Given the description of an element on the screen output the (x, y) to click on. 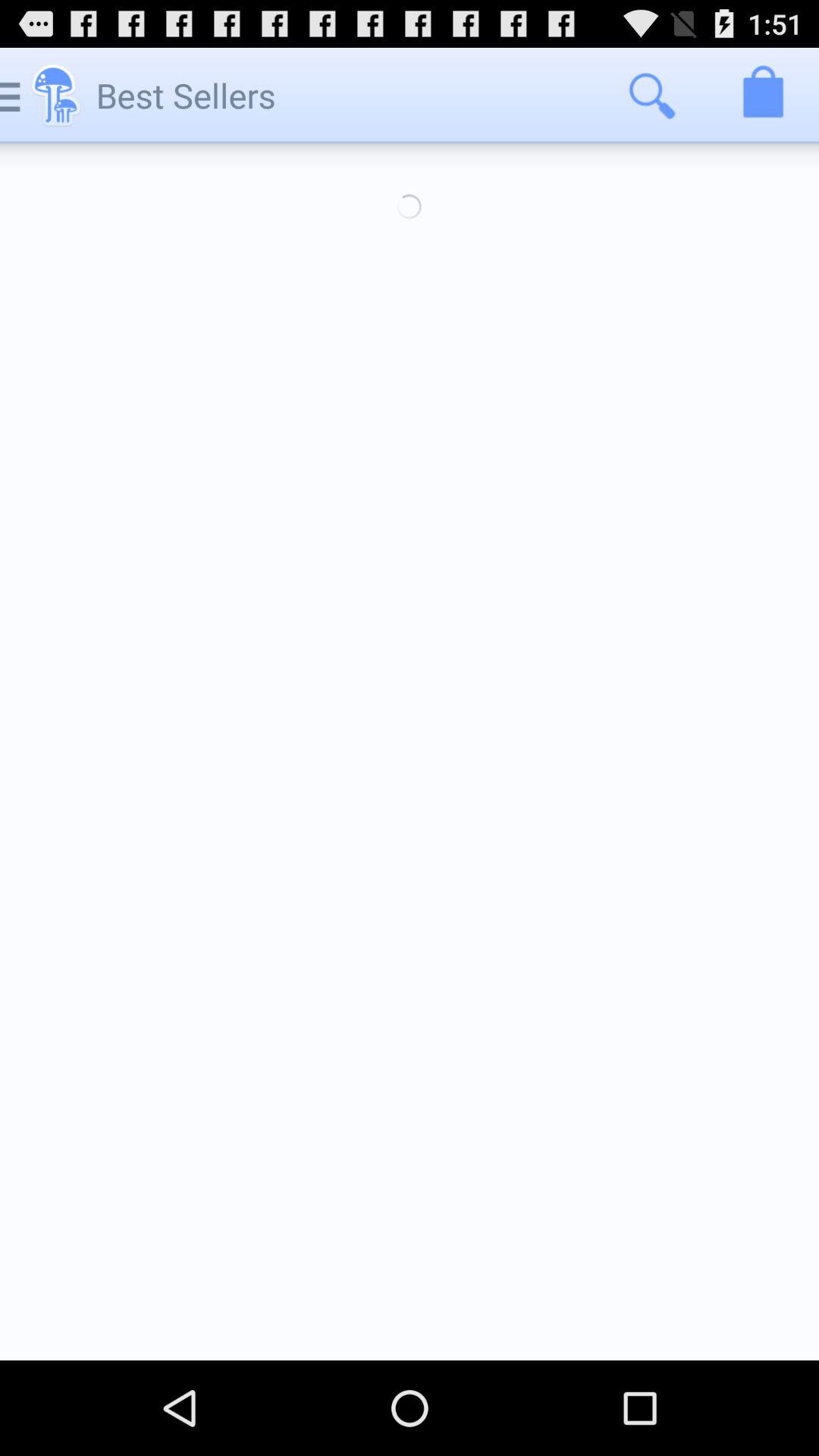
click the item next to best sellers icon (651, 95)
